Given the description of an element on the screen output the (x, y) to click on. 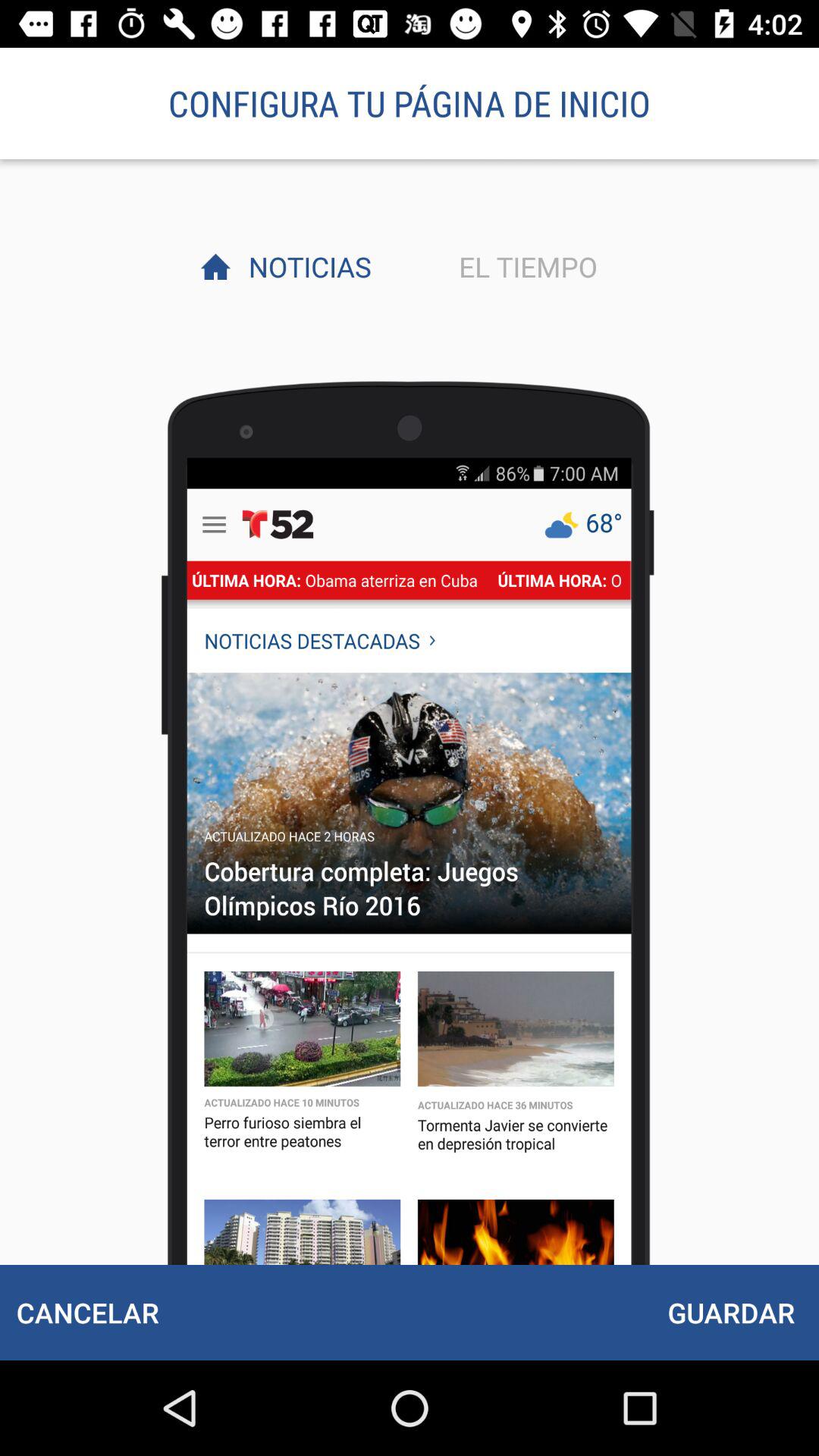
click the icon next to the noticias (524, 266)
